Given the description of an element on the screen output the (x, y) to click on. 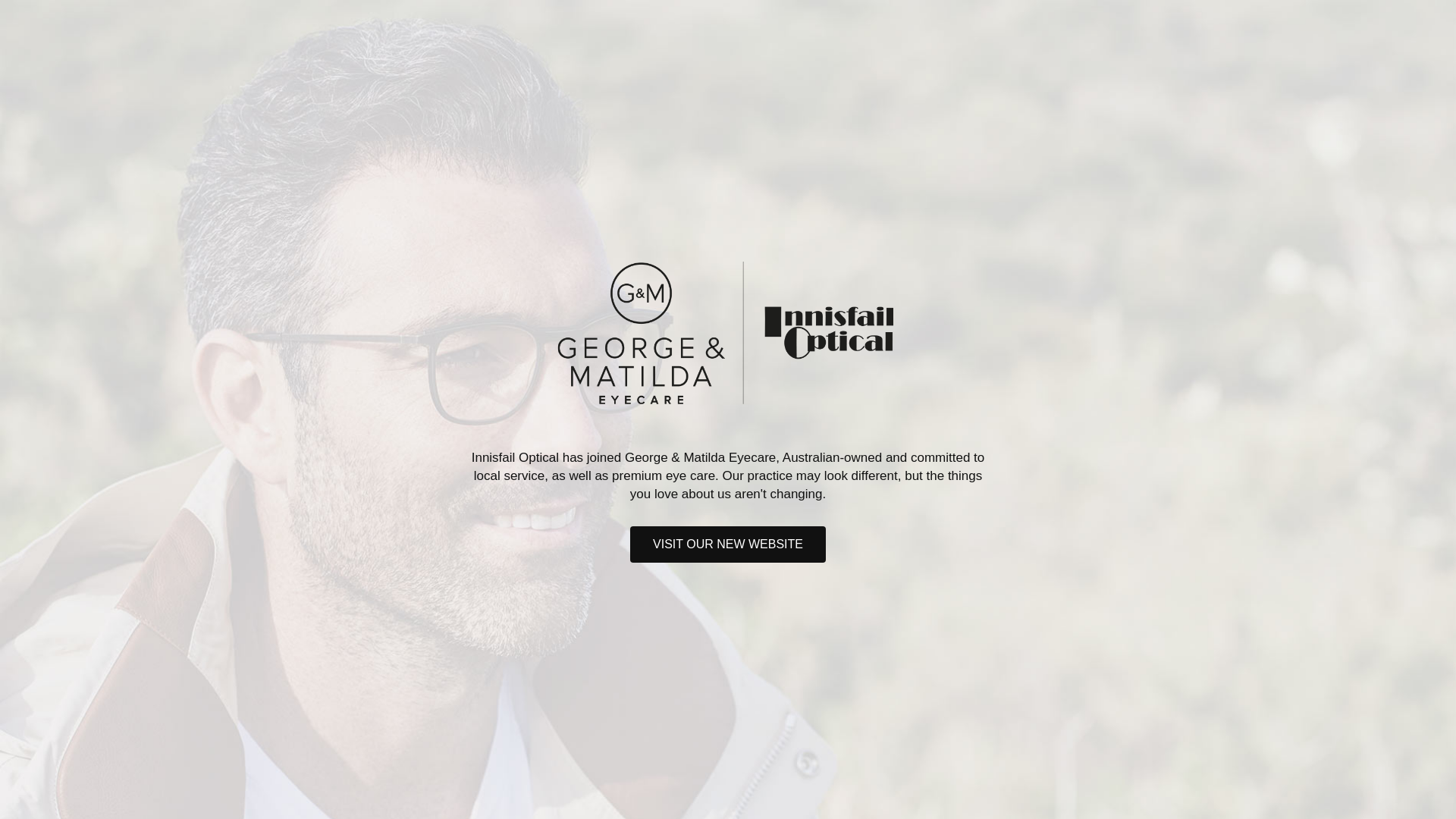
VISIT OUR NEW WEBSITE Element type: text (727, 544)
